Given the description of an element on the screen output the (x, y) to click on. 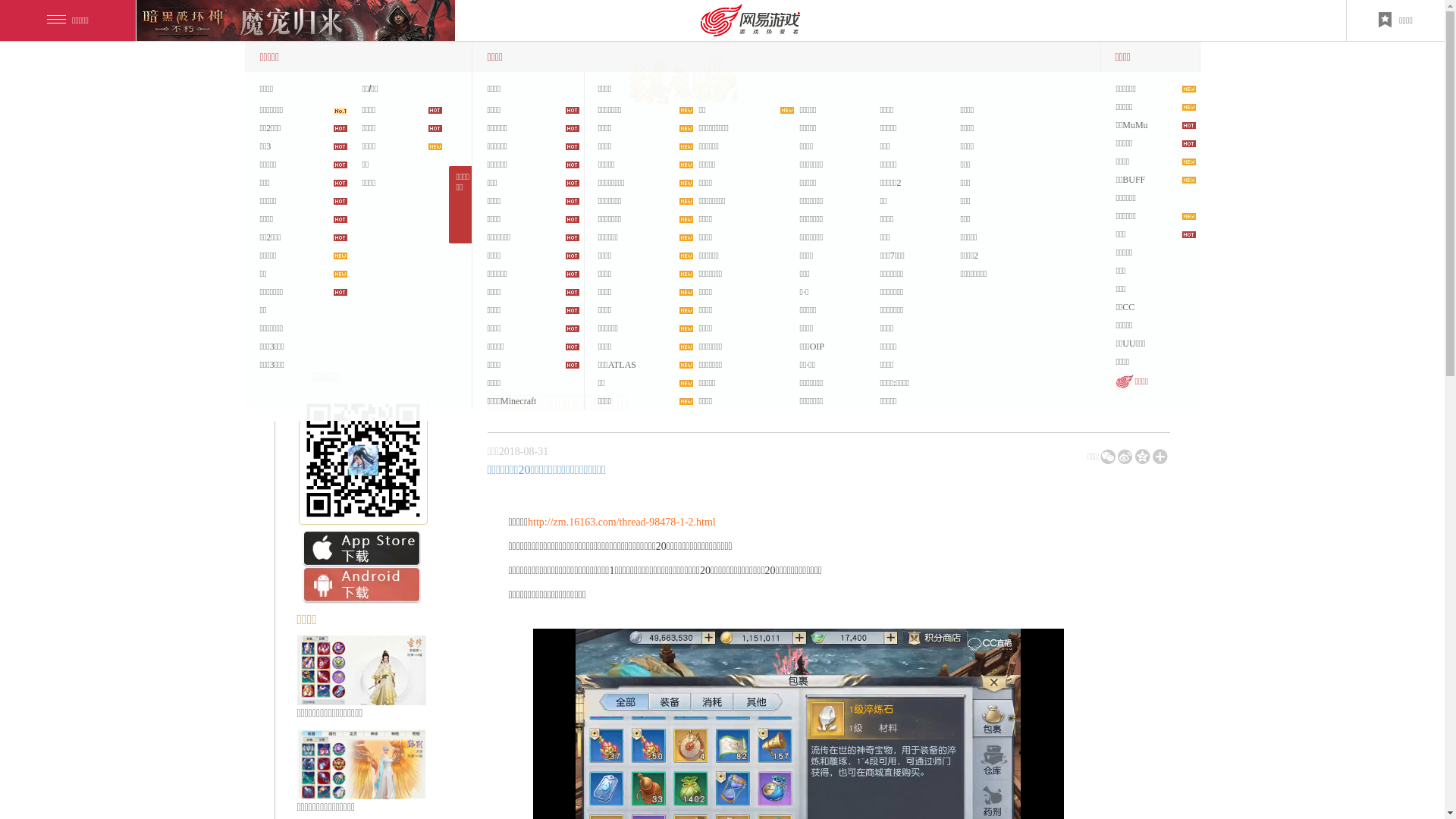
http://zm.16163.com/thread-98478-1-2.html Element type: text (621, 521)
